Given the description of an element on the screen output the (x, y) to click on. 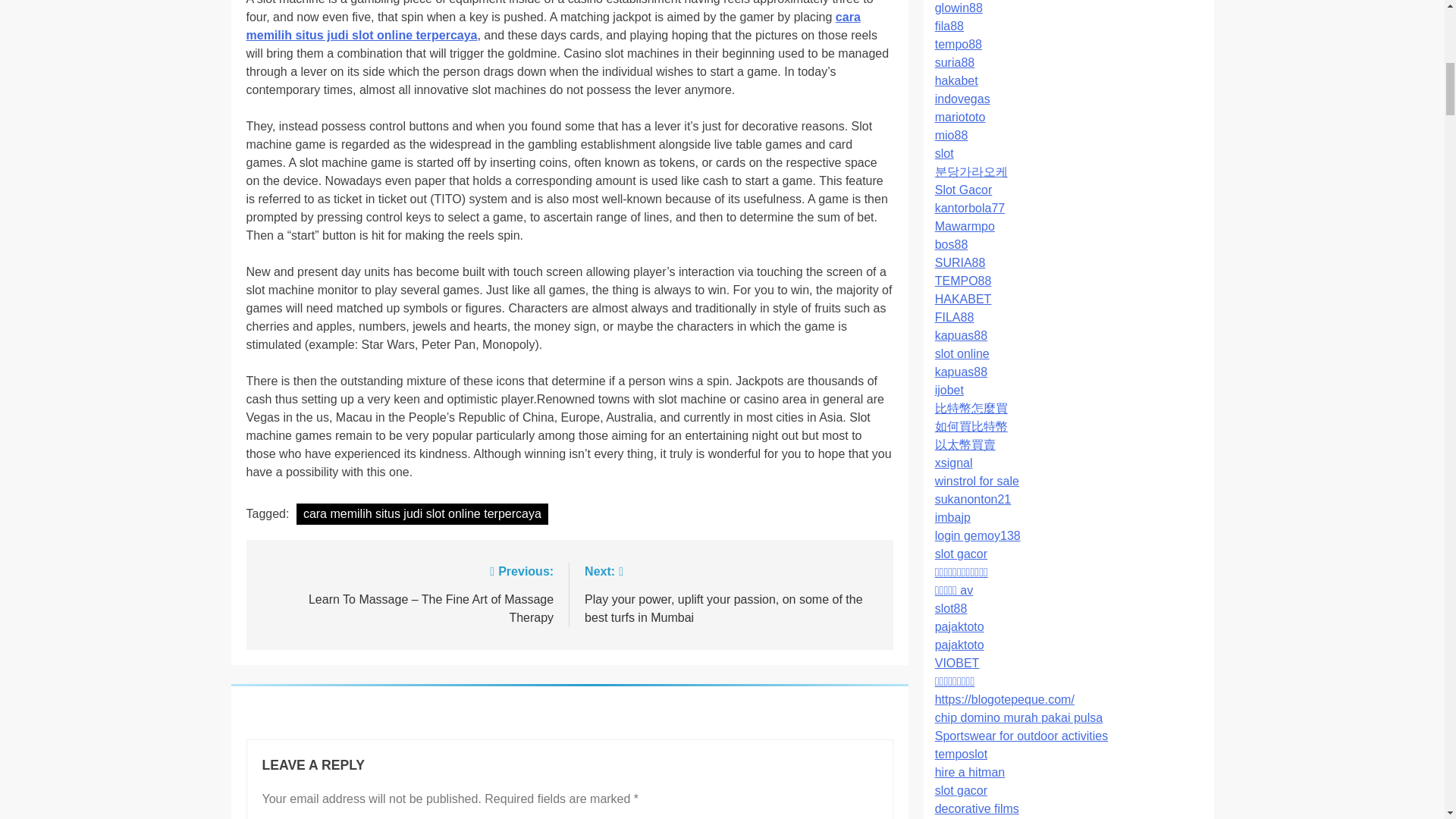
cara memilih situs judi slot online terpercaya (422, 513)
cara memilih situs judi slot online terpercaya (553, 25)
